Given the description of an element on the screen output the (x, y) to click on. 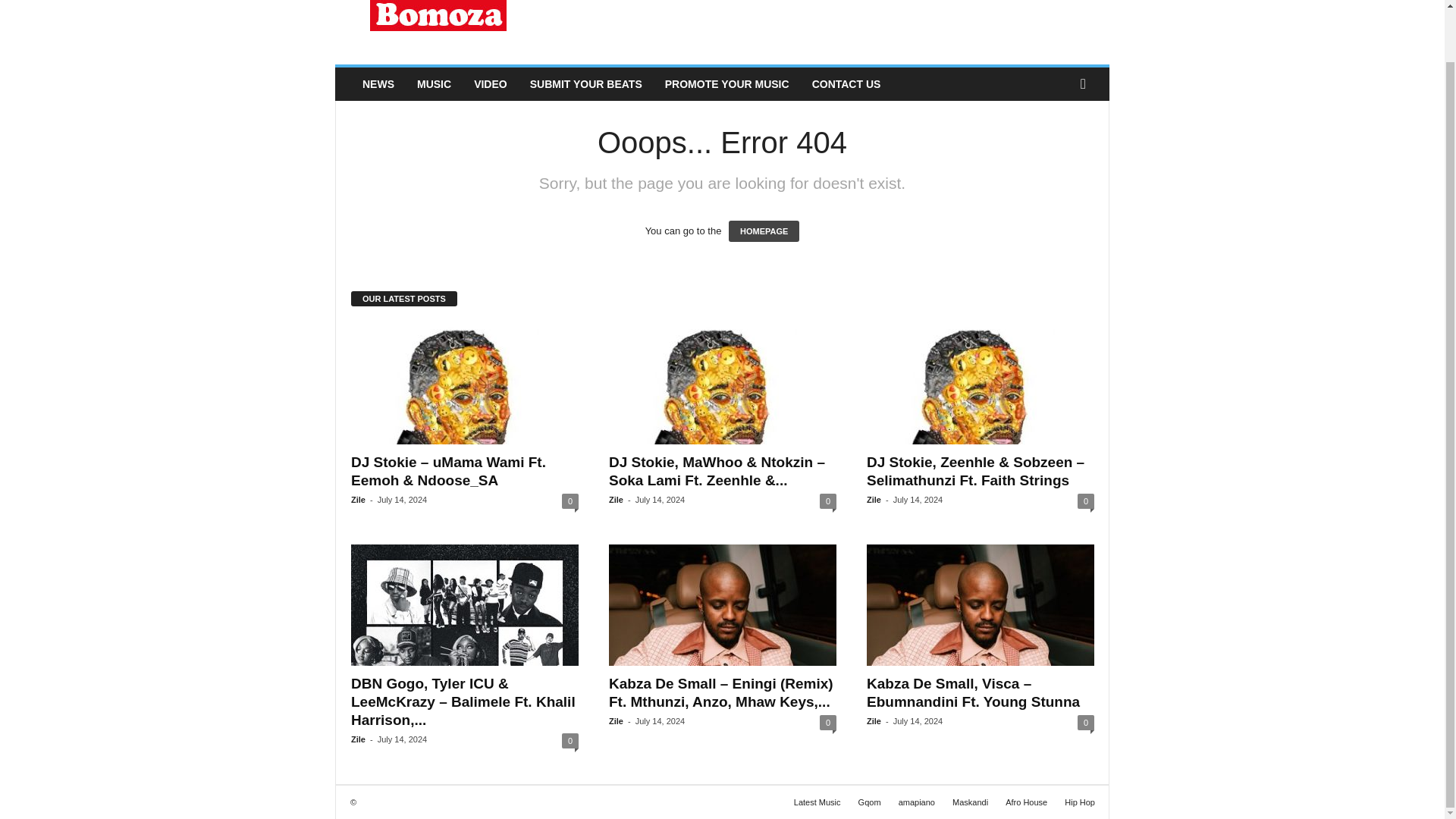
0 (827, 500)
Bomoza (437, 29)
Zile (615, 499)
MUSIC (434, 83)
CONTACT US (846, 83)
SUBMIT YOUR BEATS (585, 83)
0 (1085, 500)
0 (570, 500)
0 (570, 740)
Zile (357, 738)
PROMOTE YOUR MUSIC (726, 83)
HOMEPAGE (764, 230)
NEWS (378, 83)
Zile (873, 499)
Zile (357, 499)
